Given the description of an element on the screen output the (x, y) to click on. 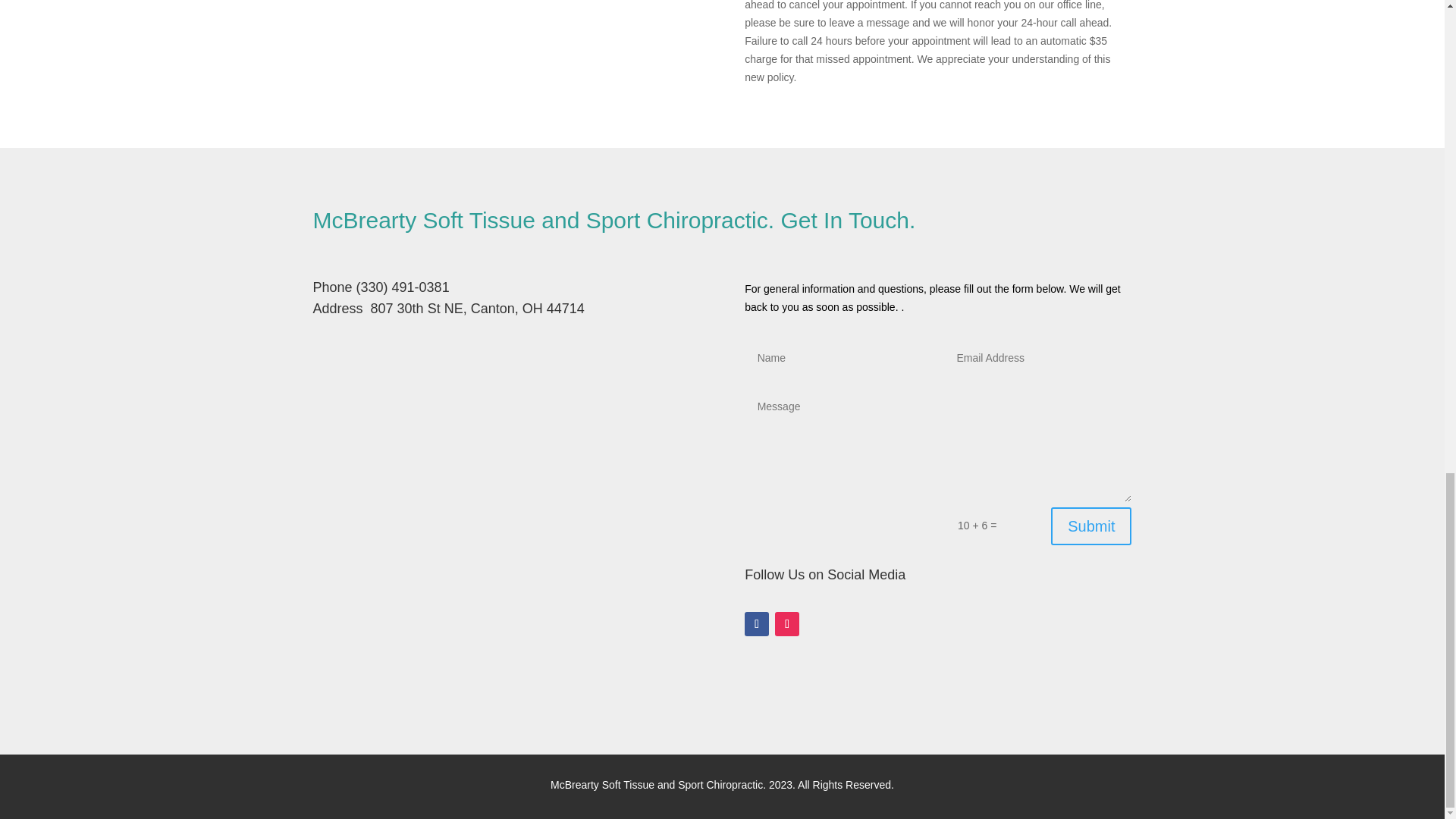
Follow on Instagram (786, 623)
Follow on Facebook (756, 623)
Submit (1091, 525)
